Given the description of an element on the screen output the (x, y) to click on. 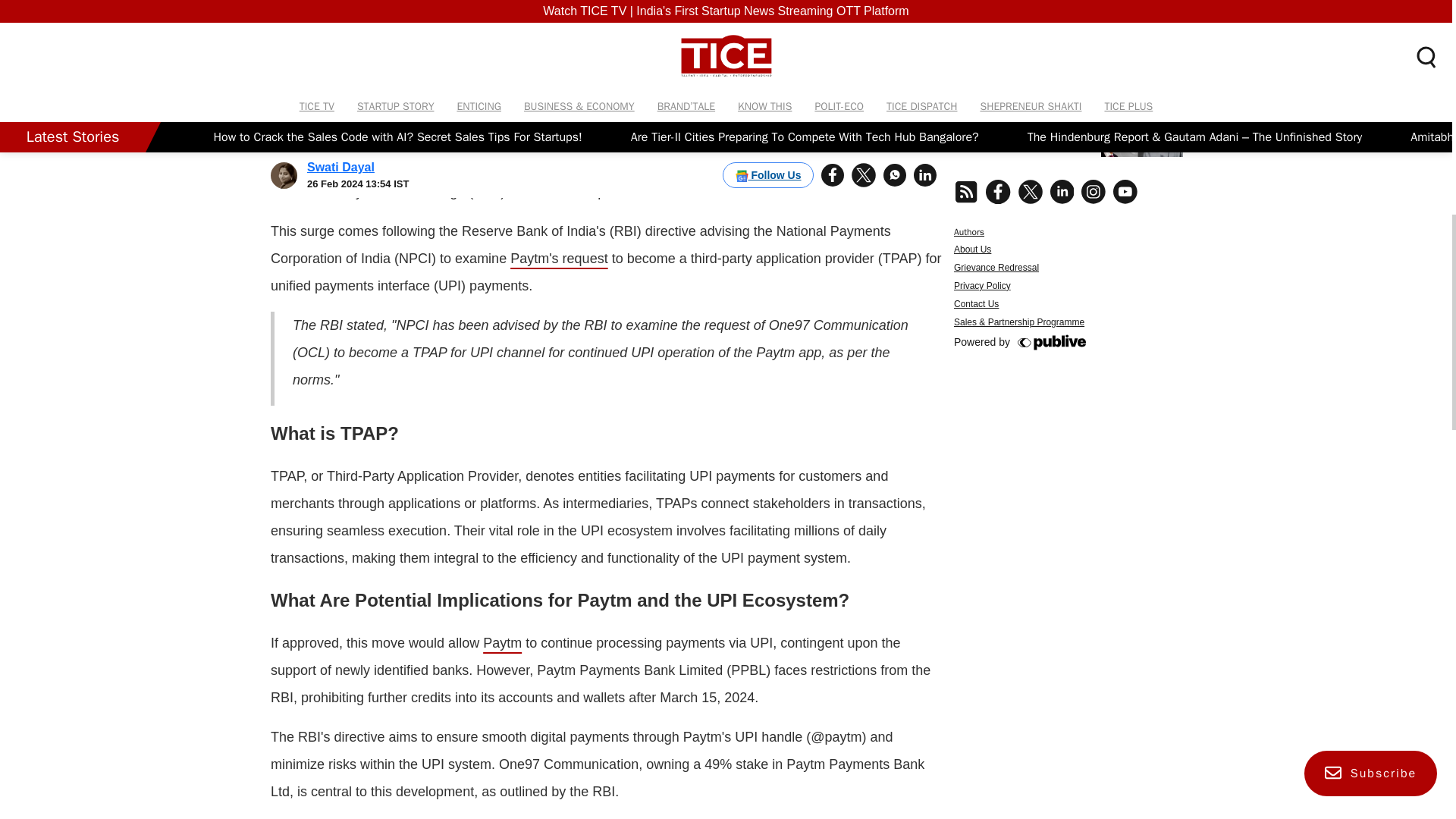
Paytm (502, 642)
Shares of Paytm's (435, 163)
Paytm (452, 136)
Paytm's request (559, 257)
